Given the description of an element on the screen output the (x, y) to click on. 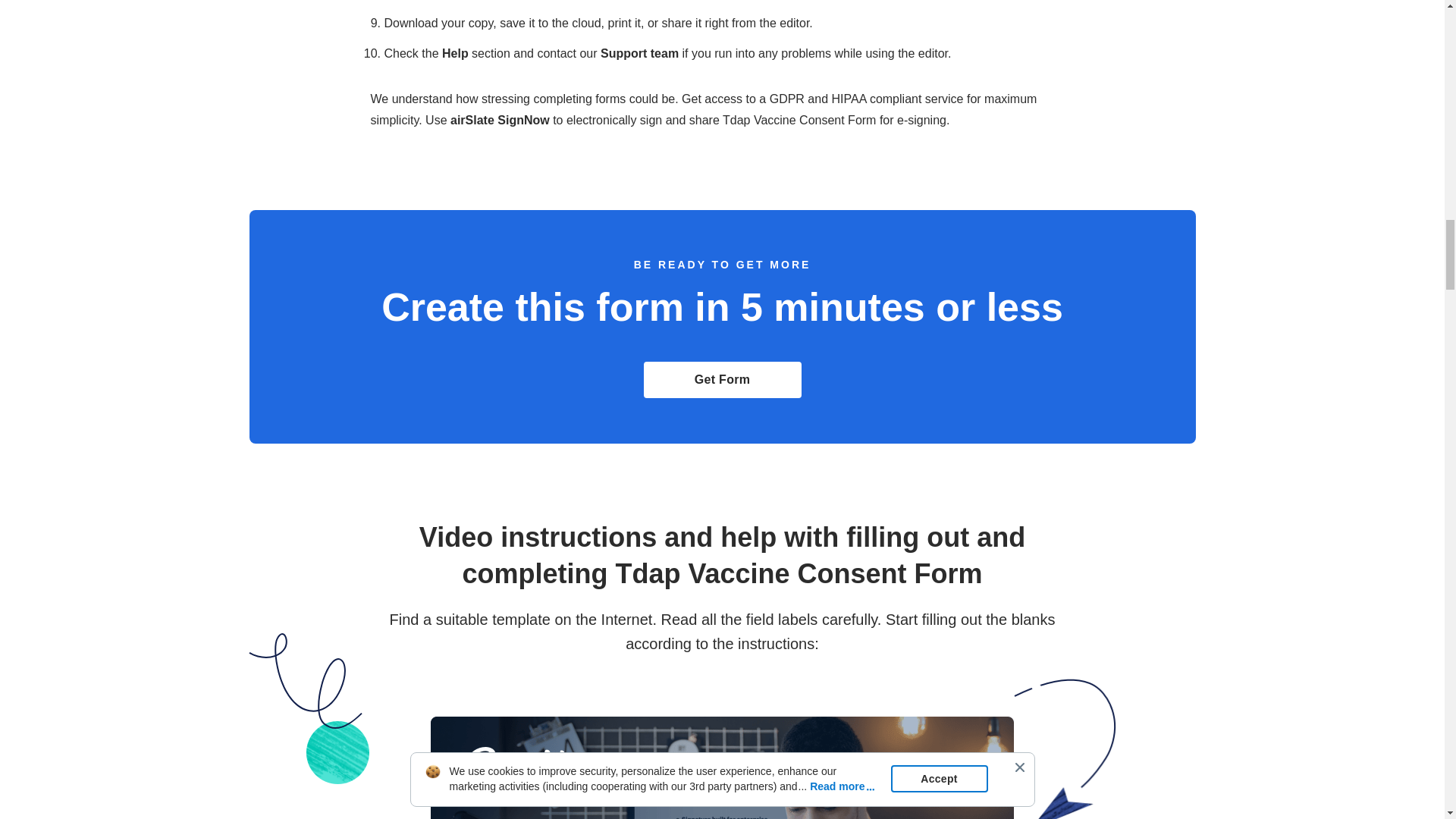
Get Form (721, 379)
